Given the description of an element on the screen output the (x, y) to click on. 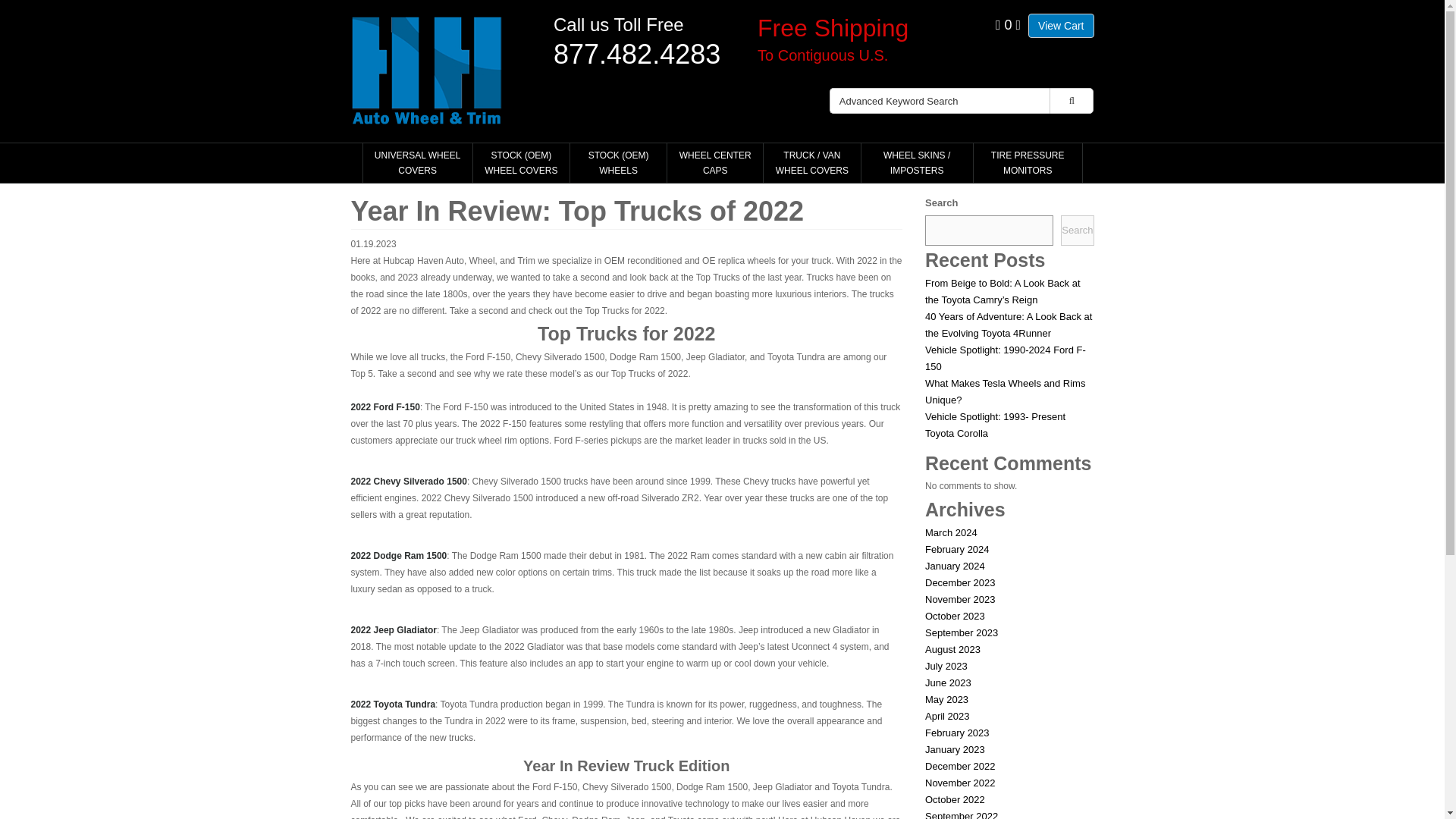
2022 Toyota Tundra (392, 704)
September 2023 (960, 632)
Vehicle Spotlight: 1990-2024 Ford F-150 (1005, 357)
February 2024 (957, 549)
2022 Jeep Gladiator (392, 629)
October 2023 (954, 615)
What Makes Tesla Wheels and Rims Unique? (1004, 391)
November 2023 (959, 599)
2022 Dodge Ram 1500 (398, 555)
Vehicle Spotlight: 1993- Present Toyota Corolla (994, 424)
